Given the description of an element on the screen output the (x, y) to click on. 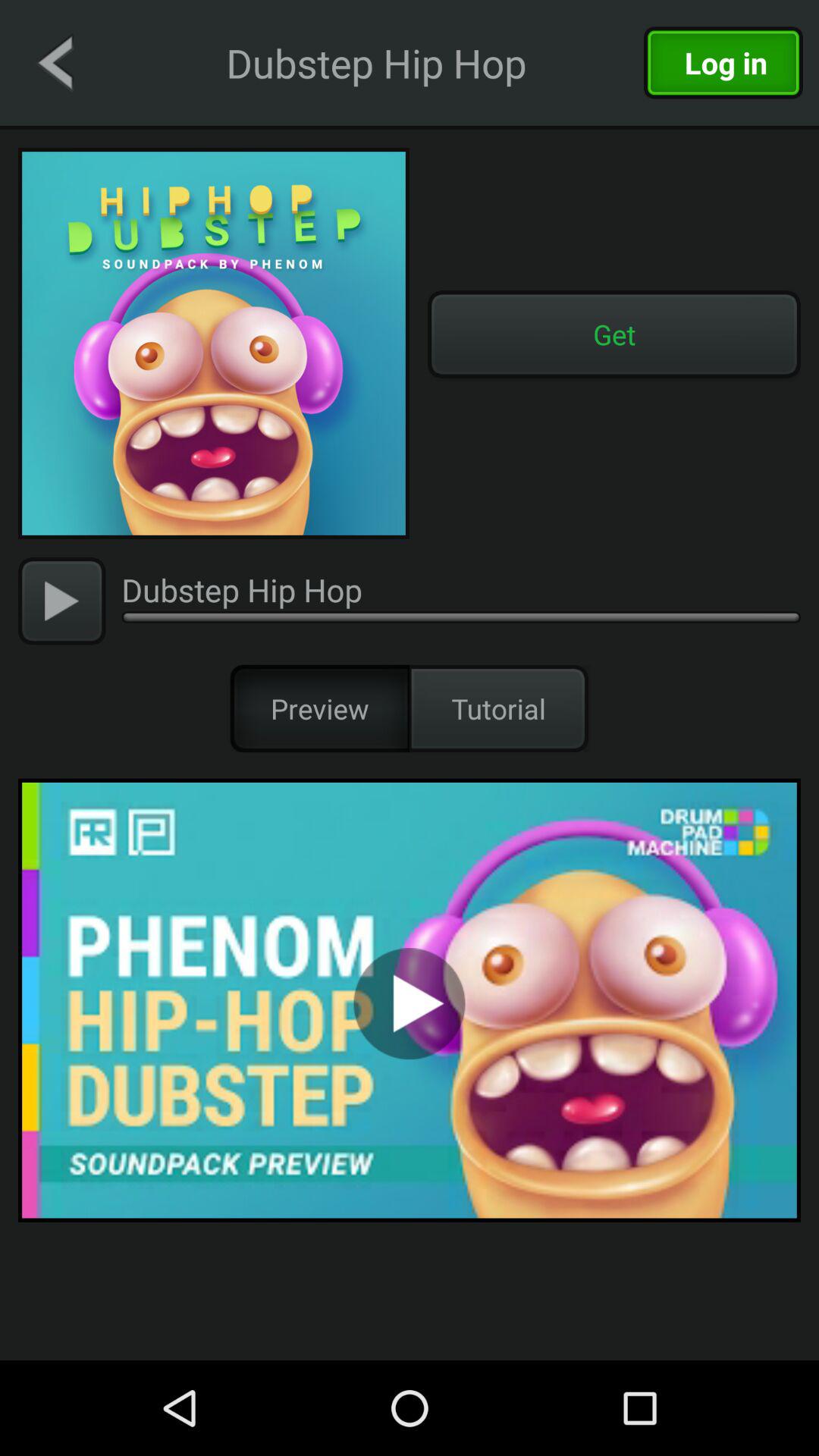
play video (409, 1000)
